Given the description of an element on the screen output the (x, y) to click on. 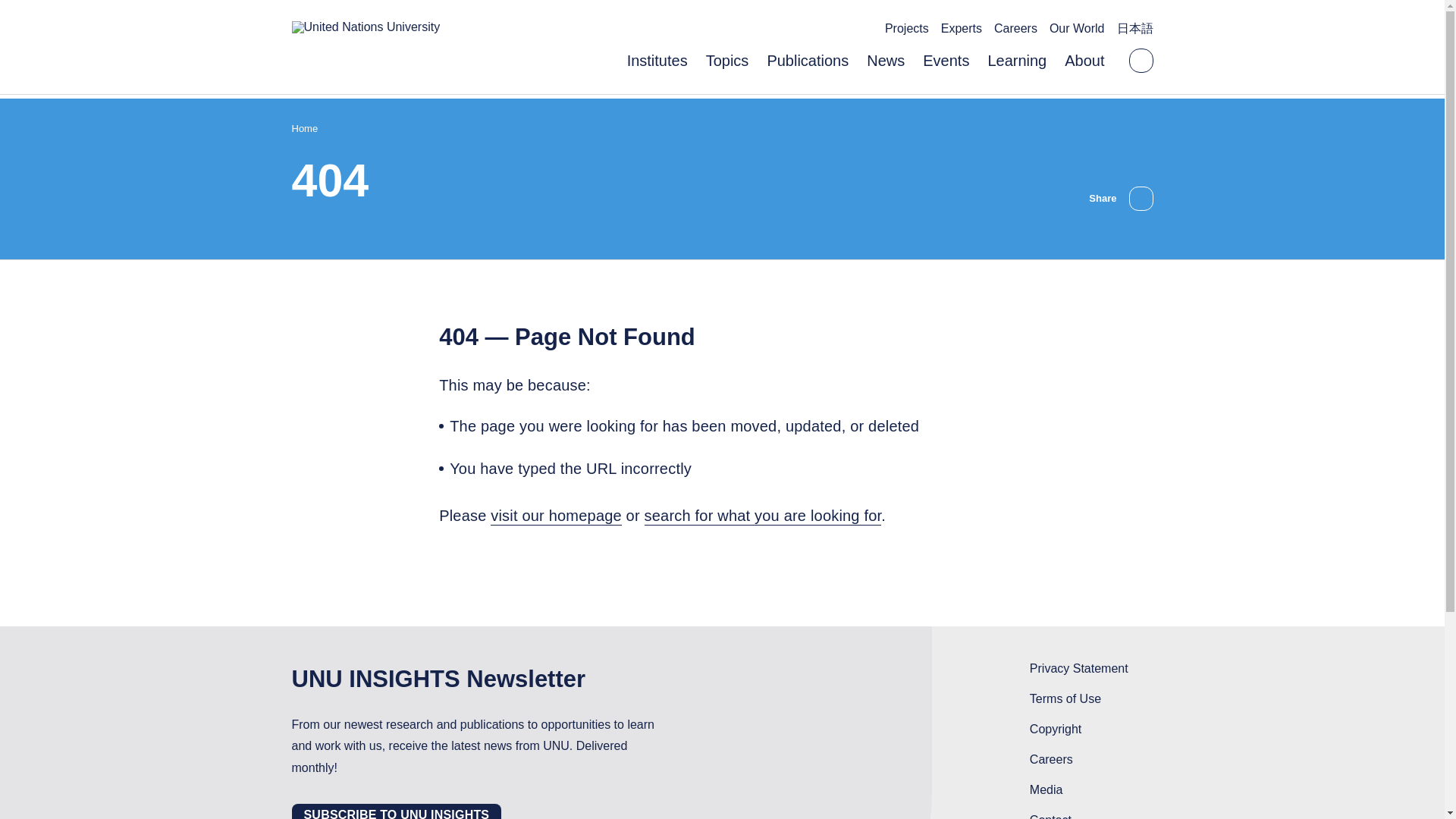
Careers (1015, 28)
Our World (1077, 28)
Go back to the homepage (365, 26)
Projects (906, 28)
Topics (727, 60)
Experts (960, 28)
Learning (1016, 60)
Home (304, 130)
News (885, 60)
